Given the description of an element on the screen output the (x, y) to click on. 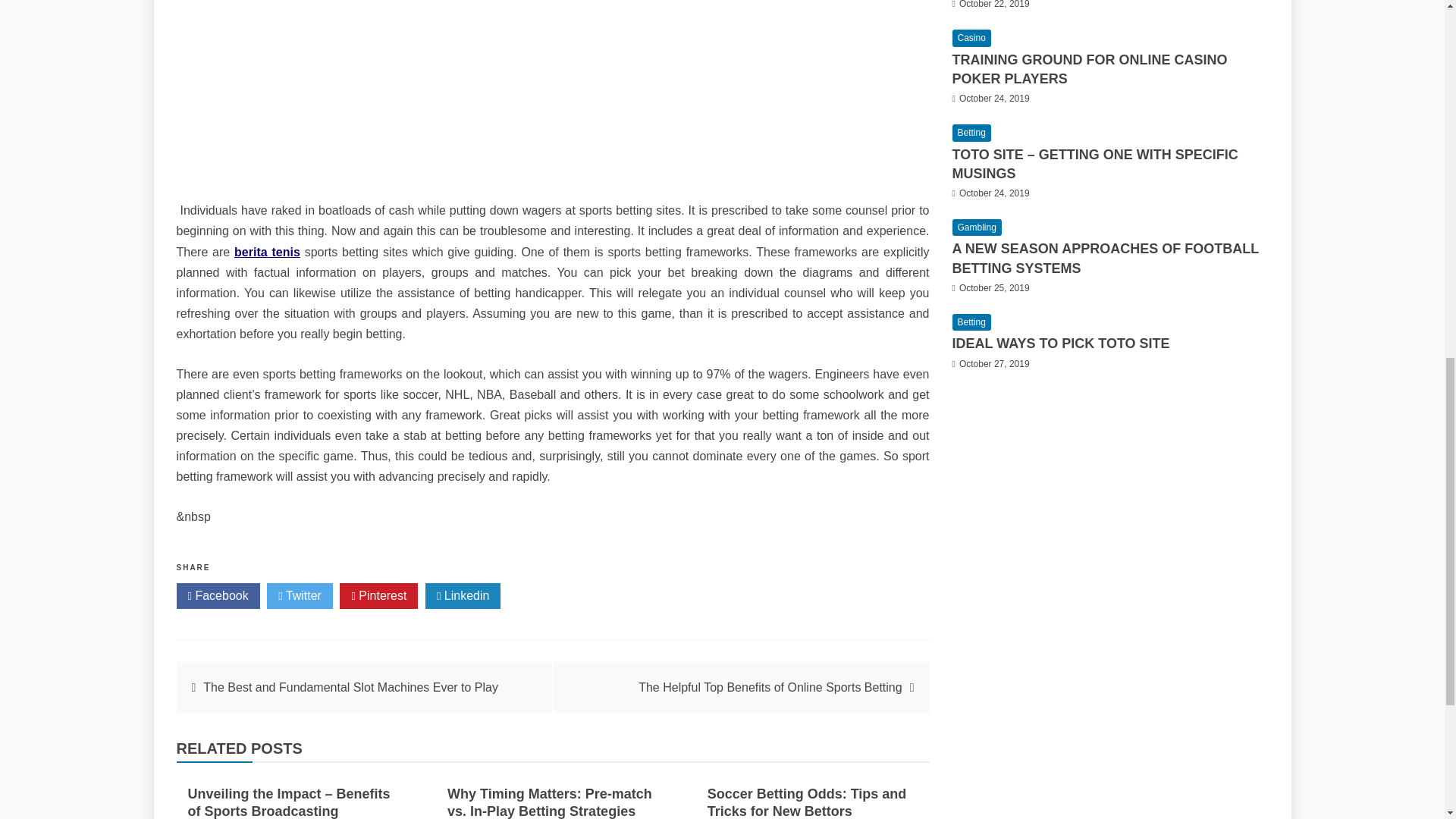
Twitter (299, 596)
Why Timing Matters: Pre-match vs. In-Play Betting Strategies (549, 802)
Facebook (217, 596)
The Helpful Top Benefits of Online Sports Betting (770, 686)
Pinterest (378, 596)
berita tenis (266, 251)
Linkedin (462, 596)
The Best and Fundamental Slot Machines Ever to Play (350, 686)
Soccer Betting Odds: Tips and Tricks for New Bettors (807, 802)
